Given the description of an element on the screen output the (x, y) to click on. 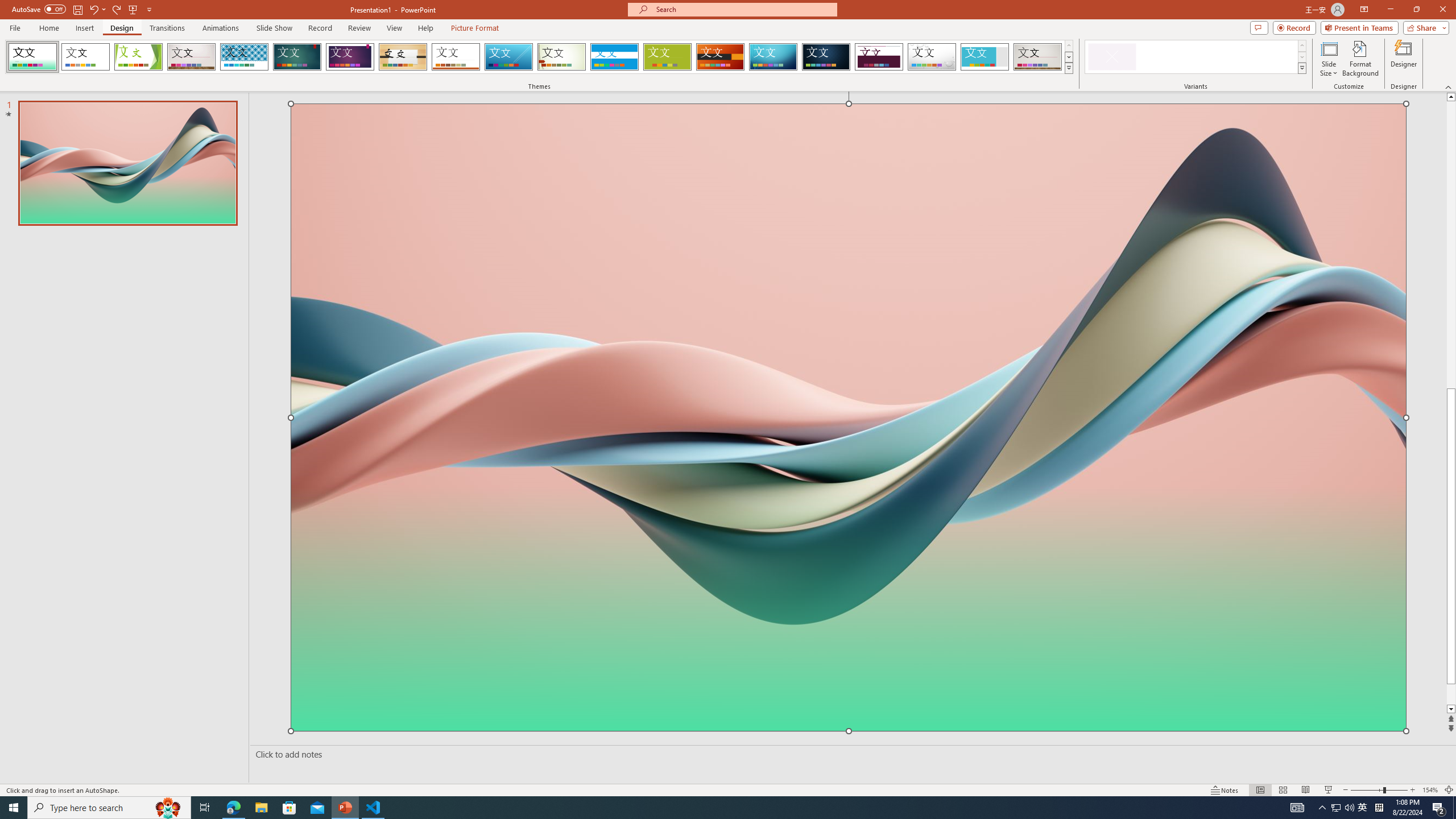
Wisp (561, 56)
Berlin (720, 56)
Row up (1301, 45)
Basis (667, 56)
Slide Notes (849, 754)
Picture Format (475, 28)
Format Background (1360, 58)
Wavy 3D art (848, 417)
